Given the description of an element on the screen output the (x, y) to click on. 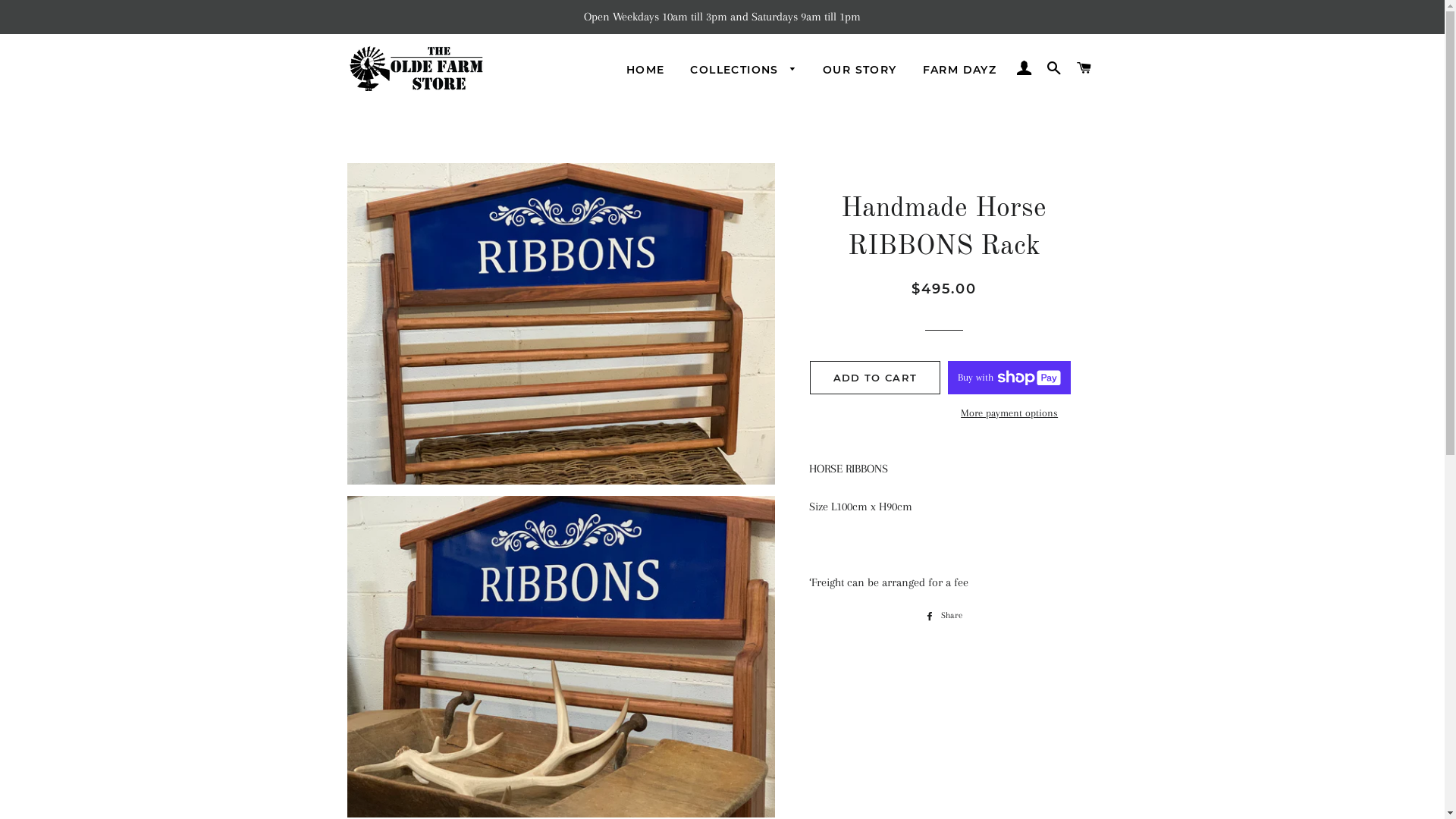
COLLECTIONS Element type: text (743, 70)
Share
Share on Facebook Element type: text (943, 615)
More payment options Element type: text (1008, 412)
CART Element type: text (1083, 68)
OUR STORY Element type: text (859, 70)
HOME Element type: text (645, 70)
FARM DAYZ Element type: text (959, 70)
ADD TO CART Element type: text (874, 377)
LOG IN Element type: text (1023, 68)
Open Weekdays 10am till 3pm and Saturdays 9am till 1pm Element type: text (722, 17)
SEARCH Element type: text (1054, 68)
